Given the description of an element on the screen output the (x, y) to click on. 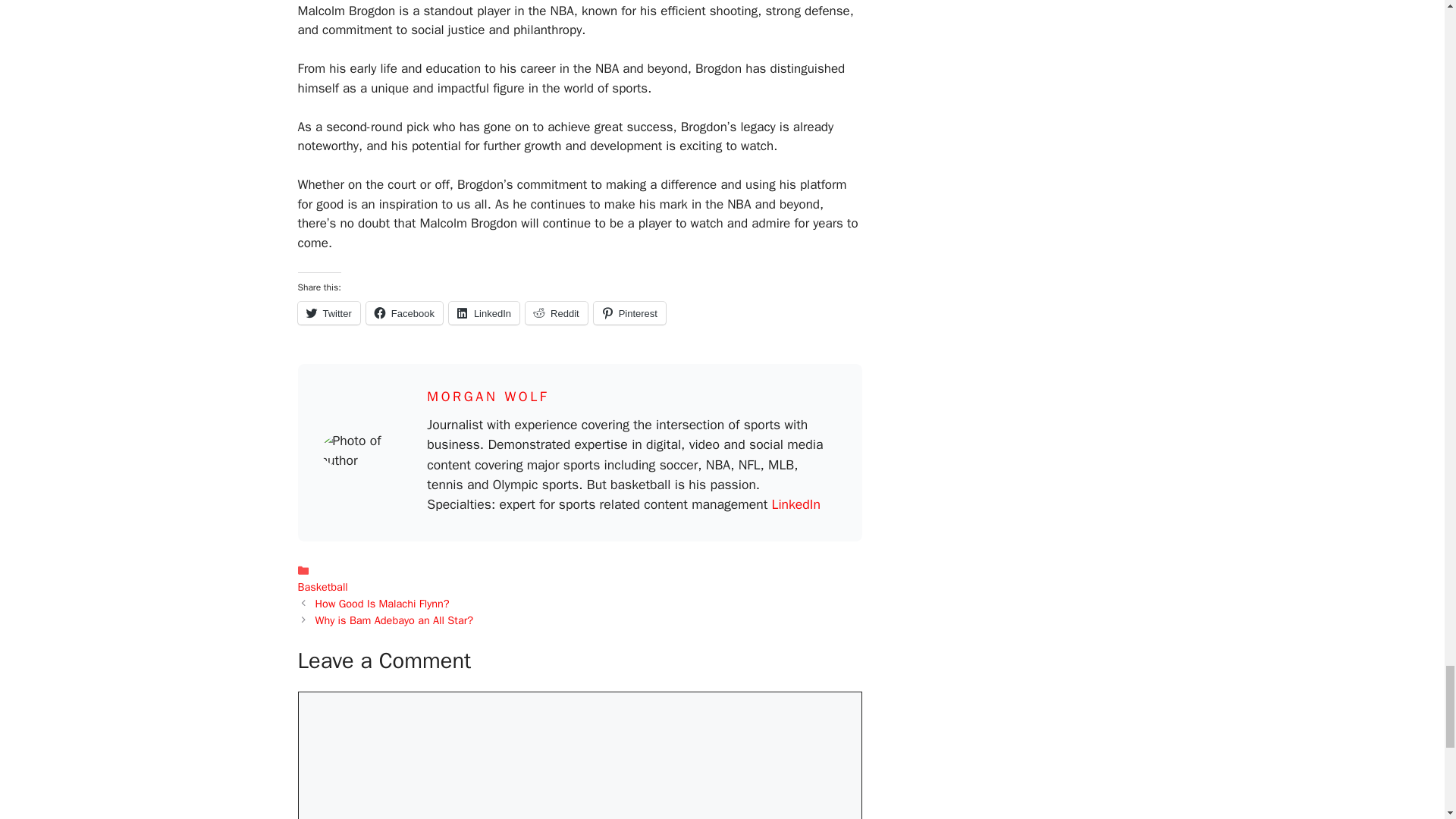
Click to share on Twitter (328, 313)
Reddit (556, 313)
Why is Bam Adebayo an All Star? (394, 620)
MORGAN WOLF (487, 396)
Basketball (322, 586)
Categories (579, 578)
LinkedIn (796, 504)
Click to share on Pinterest (629, 313)
LinkedIn (483, 313)
How Good Is Malachi Flynn? (382, 603)
